Given the description of an element on the screen output the (x, y) to click on. 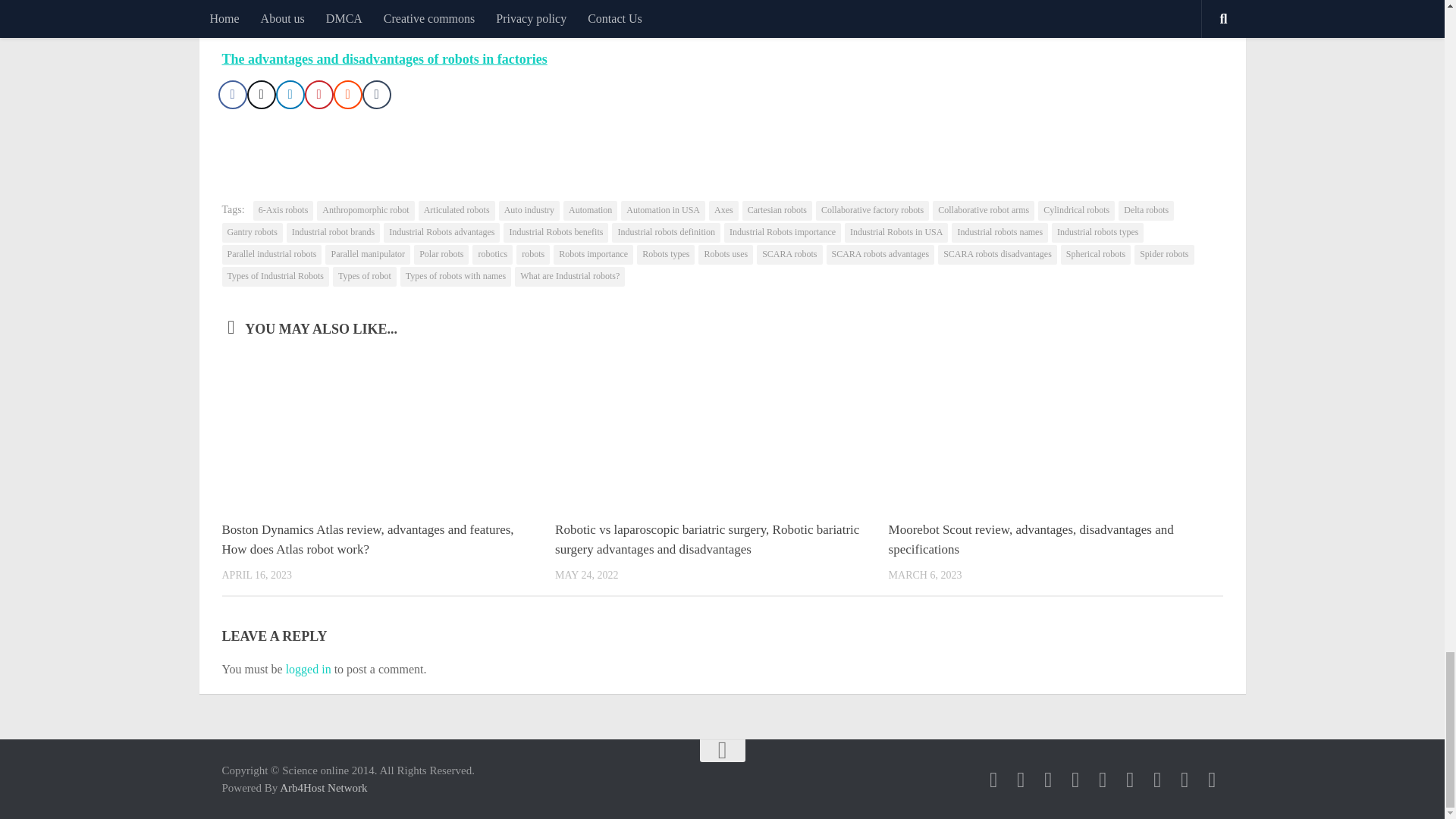
Science online (993, 780)
Arb4Host Network Fore Web Solutions (322, 787)
